Given the description of an element on the screen output the (x, y) to click on. 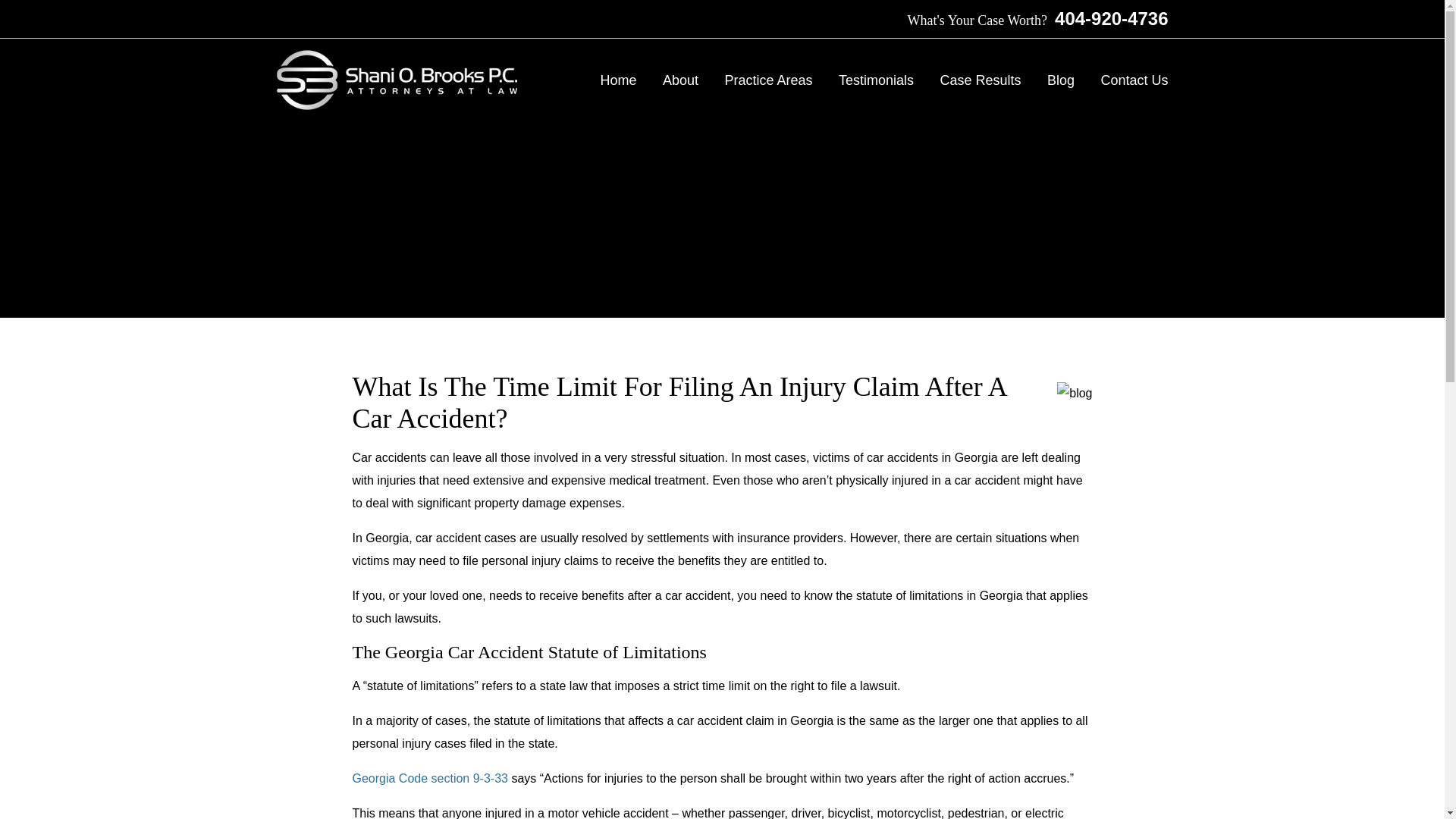
Contact Us (1133, 80)
Practice Areas (767, 80)
Case Results (979, 80)
404-920-4736 (1106, 18)
Testimonials (876, 80)
Georgia Code section 9-3-33 (429, 778)
